Given the description of an element on the screen output the (x, y) to click on. 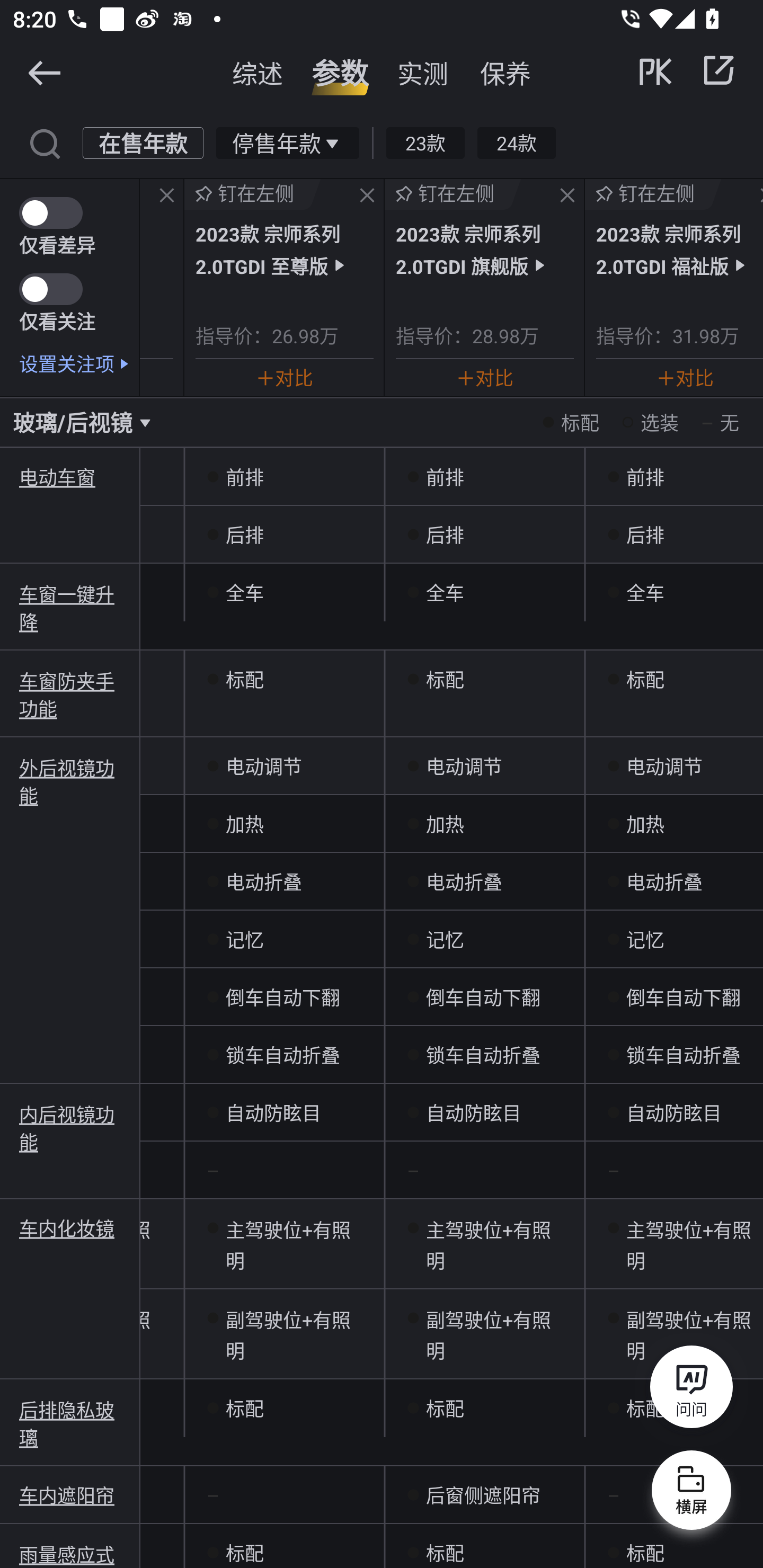
  (688, 70)
综述 (257, 72)
实测 (422, 72)
保养 (505, 72)
 (718, 70)
 (44, 71)
 (44, 142)
在售年款 (142, 142)
停售年款  (287, 142)
23款 (425, 142)
24款 (516, 142)
 (166, 195)
 钉在左侧 (252, 194)
 (366, 195)
 钉在左侧 (452, 194)
 (567, 195)
 钉在左侧 (653, 194)
2023款 宗师系列 2.0TGDI 至尊版  (284, 249)
2023款 宗师系列 2.0TGDI 旗舰版  (484, 249)
2023款 宗师系列 2.0TGDI 福祉版  (679, 249)
设置关注项  (79, 363)
对比 (283, 377)
对比 (484, 377)
对比 (684, 377)
玻璃/后视镜  标配 选装 无 (381, 422)
前排 (284, 477)
前排 (484, 477)
前排 (674, 477)
电动车窗 (69, 476)
后排 (284, 534)
后排 (484, 534)
后排 (674, 534)
全车 (284, 591)
全车 (484, 591)
全车 (674, 591)
车窗一键升降 (69, 607)
标配 (284, 679)
标配 (484, 679)
标配 (674, 679)
车窗防夹手功能 (69, 693)
电动调节 (284, 765)
电动调节 (484, 765)
电动调节 (674, 765)
外后视镜功能 (69, 780)
加热 (284, 823)
加热 (484, 823)
加热 (674, 823)
电动折叠 (284, 881)
电动折叠 (484, 881)
电动折叠 (674, 881)
记忆 (284, 940)
记忆 (484, 940)
记忆 (674, 940)
倒车自动下翻 (284, 997)
倒车自动下翻 (484, 997)
倒车自动下翻 (674, 997)
锁车自动折叠 (284, 1054)
锁车自动折叠 (484, 1054)
锁车自动折叠 (674, 1054)
自动防眩目 (284, 1112)
自动防眩目 (484, 1112)
自动防眩目 (674, 1112)
内后视镜功能 (69, 1126)
主驾驶位+有照明 (284, 1243)
主驾驶位+有照明 (484, 1243)
主驾驶位+有照明 (674, 1243)
车内化妆镜 (69, 1228)
副驾驶位+有照明 (284, 1333)
副驾驶位+有照明 (484, 1333)
副驾驶位+有照明 (674, 1333)
 问问 (691, 1389)
标配 (284, 1408)
标配 (484, 1408)
后排隐私玻璃 (69, 1422)
后窗侧遮阳帘 (484, 1495)
车内遮阳帘 (69, 1494)
标配 (284, 1546)
标配 (484, 1546)
标配 (674, 1546)
雨量感应式雨刷 (69, 1553)
